Given the description of an element on the screen output the (x, y) to click on. 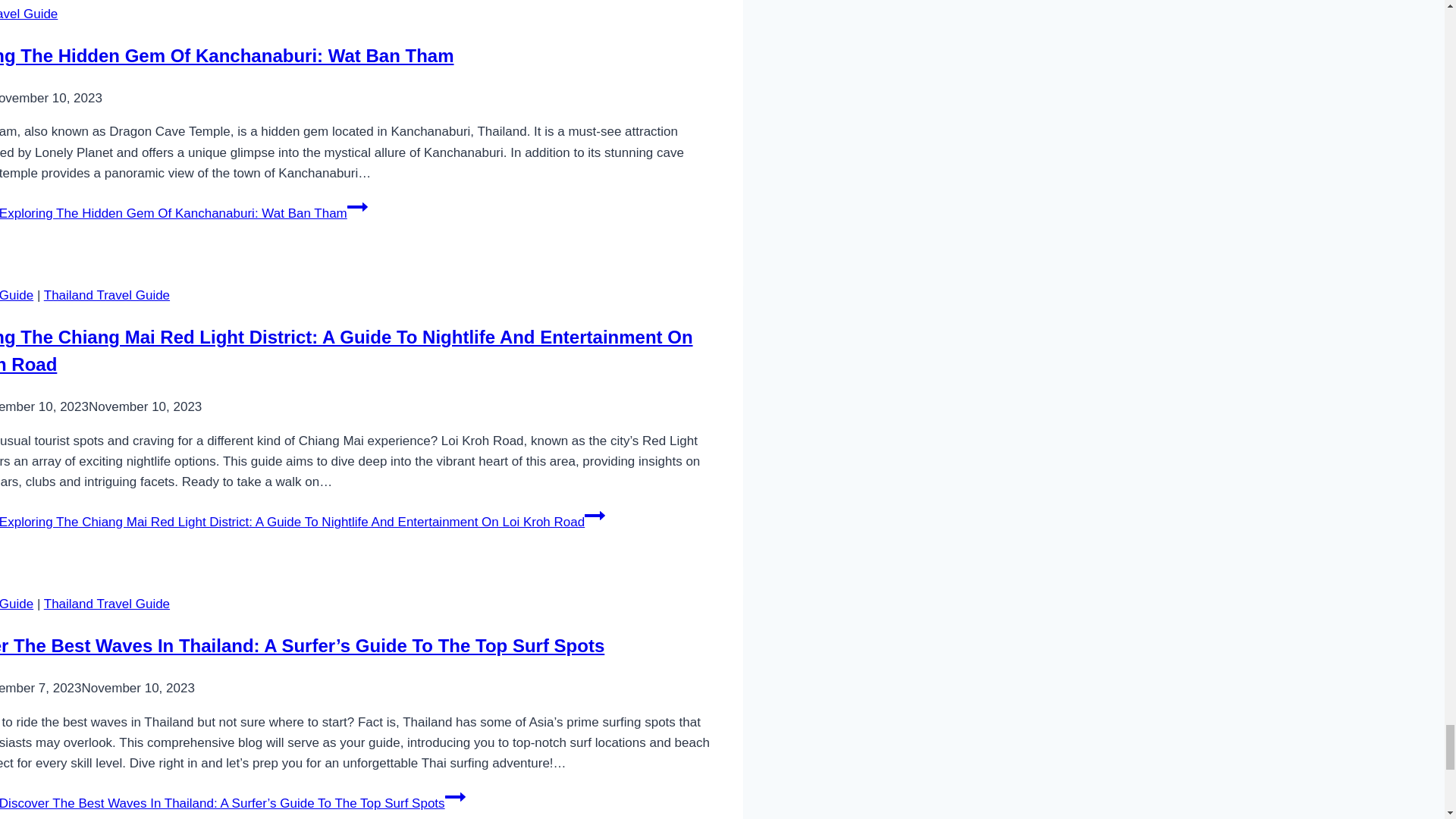
Continue (455, 796)
Asia Travel Guide (16, 603)
Exploring The Hidden Gem Of Kanchanaburi: Wat Ban Tham (227, 55)
Asia Travel Guide (16, 295)
Thailand Travel Guide (106, 295)
Continue (595, 515)
Continue (357, 206)
